Given the description of an element on the screen output the (x, y) to click on. 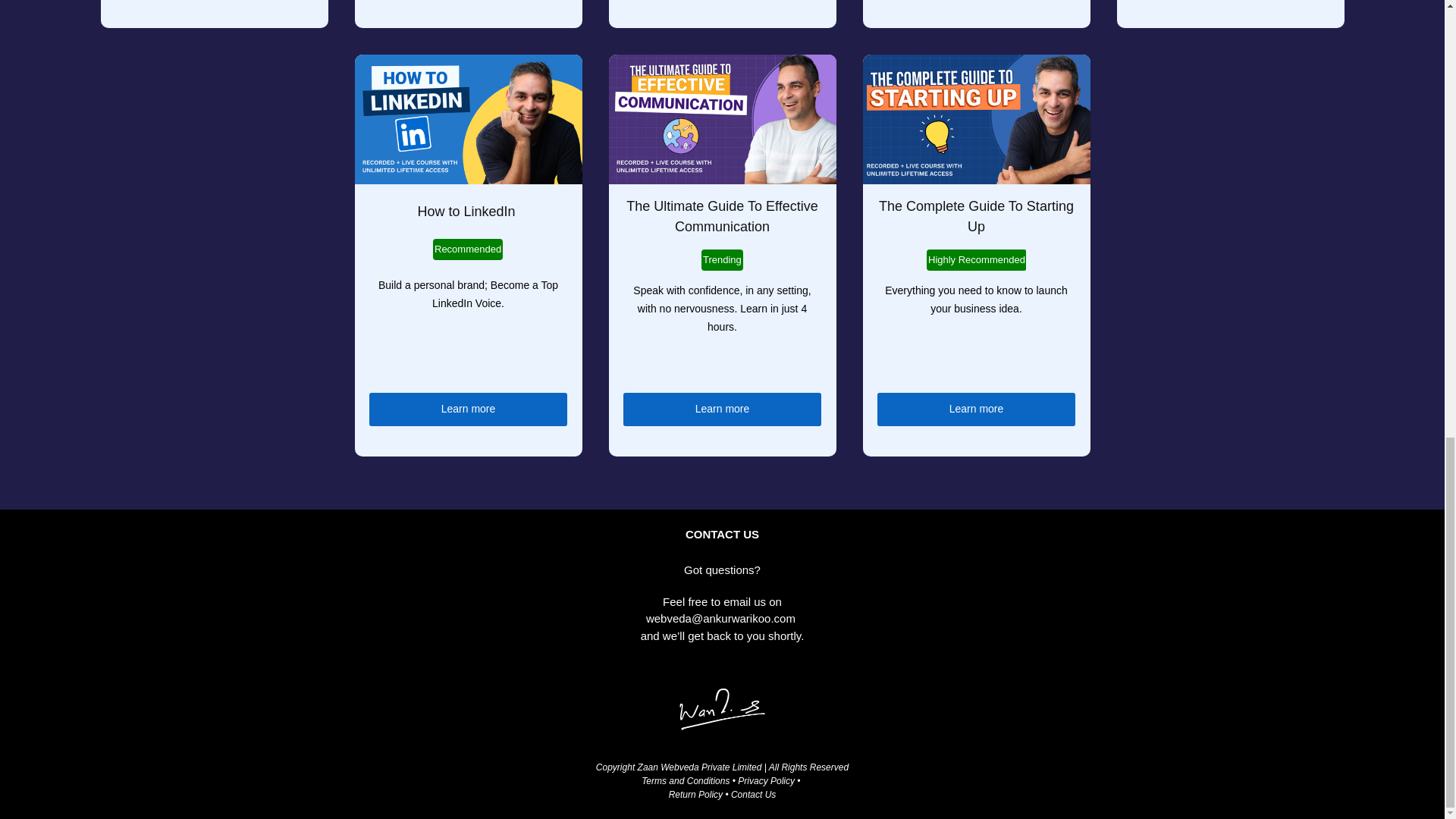
Learn more (722, 409)
How to LinkedIn  (467, 211)
Learn more (468, 409)
Privacy Policy (766, 780)
Contact Us (753, 794)
Learn more (735, 787)
The Complete Guide To Starting Up (976, 409)
Terms and Conditions (978, 216)
